Given the description of an element on the screen output the (x, y) to click on. 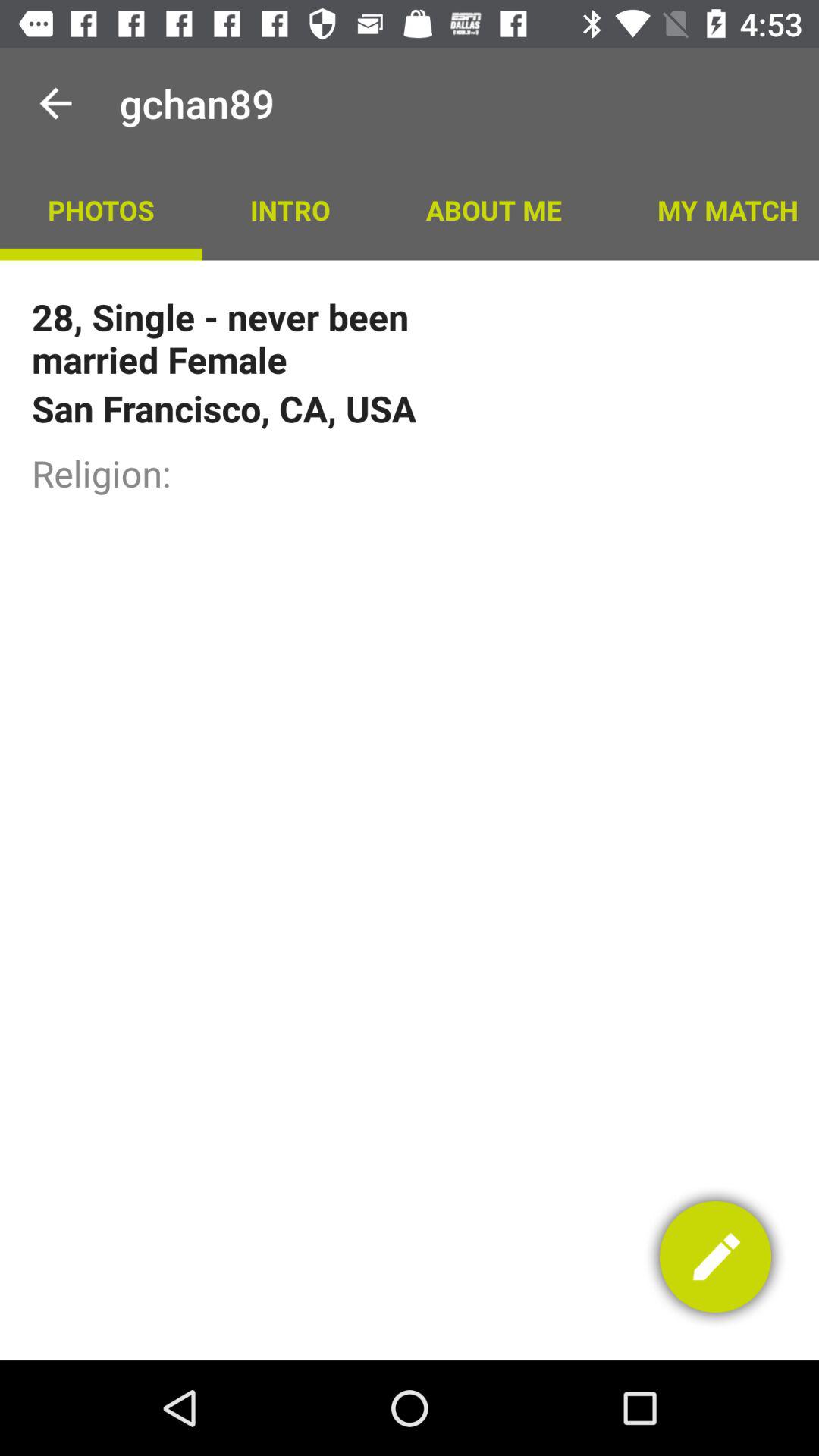
click edit (715, 1256)
